Given the description of an element on the screen output the (x, y) to click on. 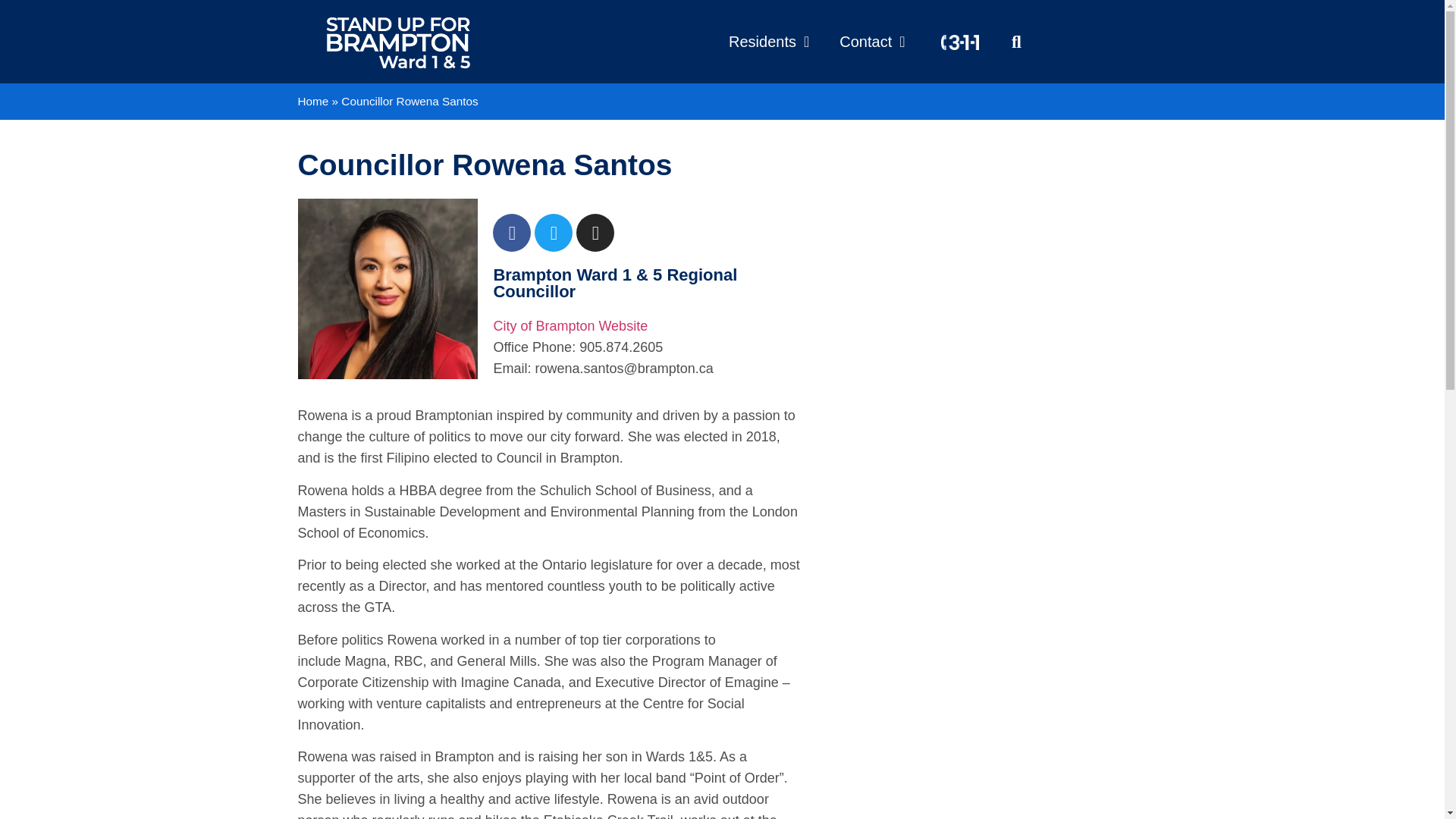
Residents (768, 41)
Home (313, 101)
City of Brampton Website (570, 325)
Contact (872, 41)
